Given the description of an element on the screen output the (x, y) to click on. 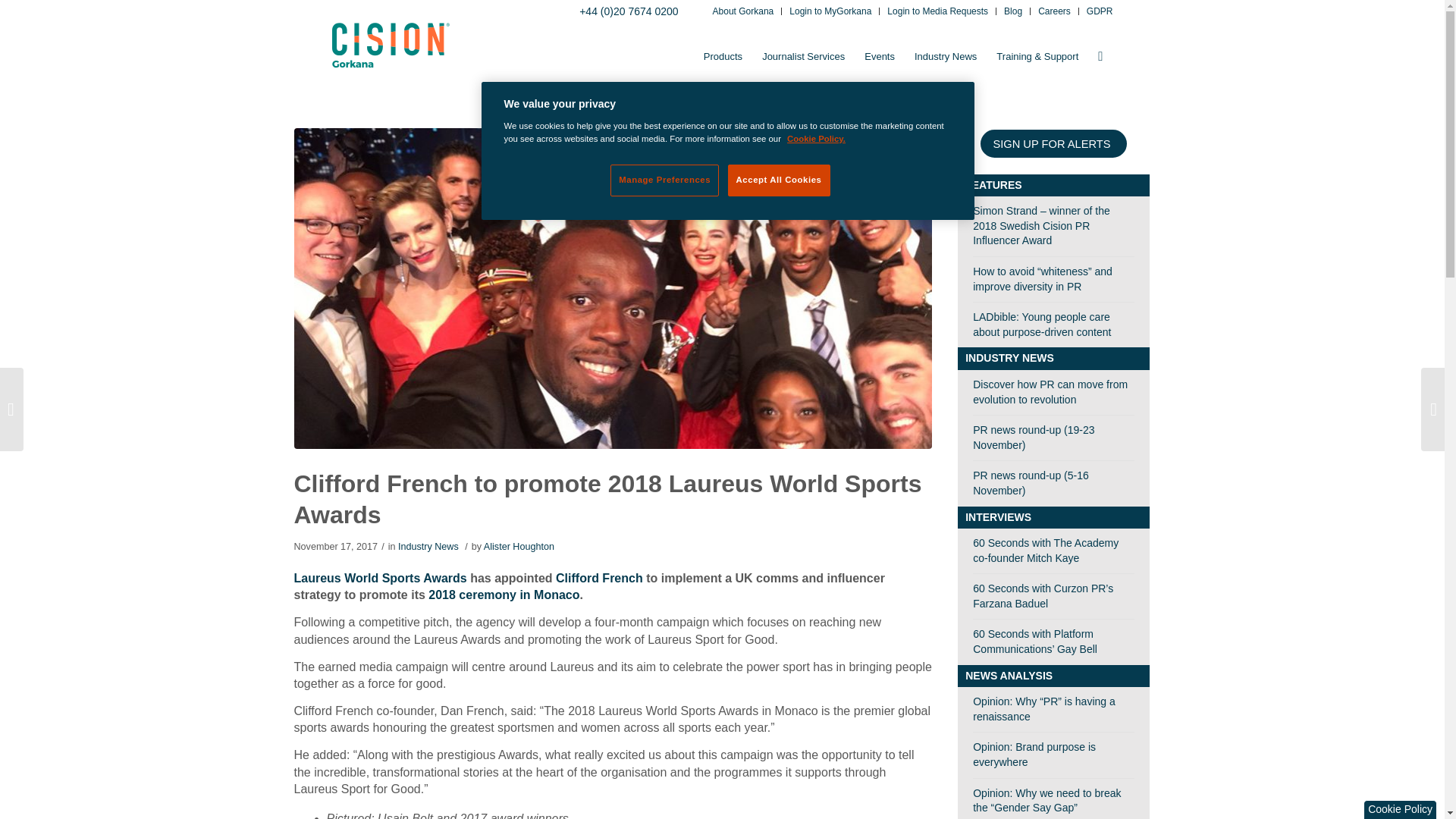
Login to Media Requests (937, 12)
Login to MyGorkana (829, 12)
About Gorkana (743, 12)
GDPR (1099, 12)
Posts by Alister Houghton (518, 546)
Journalist Services (803, 56)
Careers (1054, 12)
Industry News (945, 56)
